Given the description of an element on the screen output the (x, y) to click on. 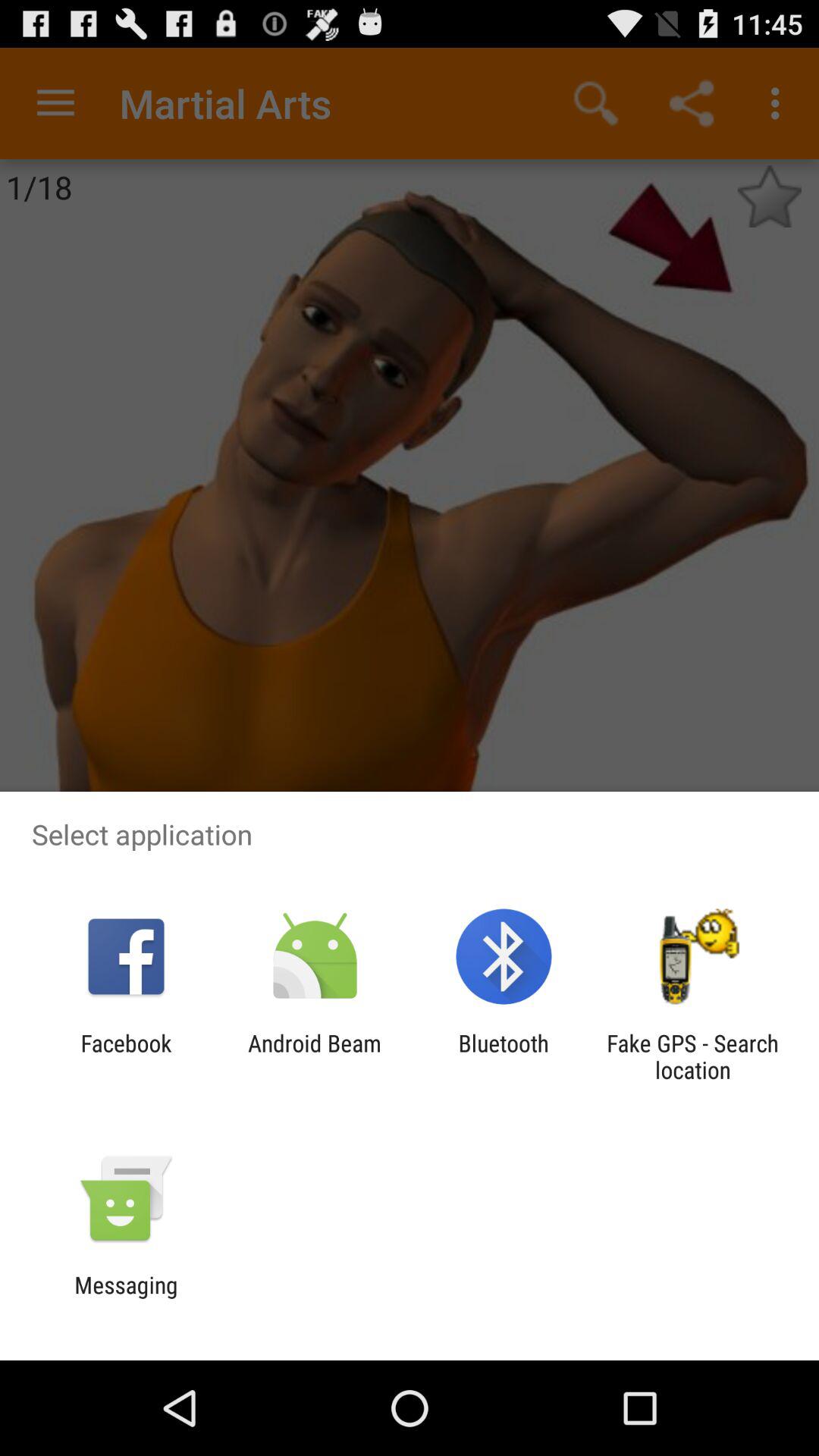
click item to the left of bluetooth app (314, 1056)
